Given the description of an element on the screen output the (x, y) to click on. 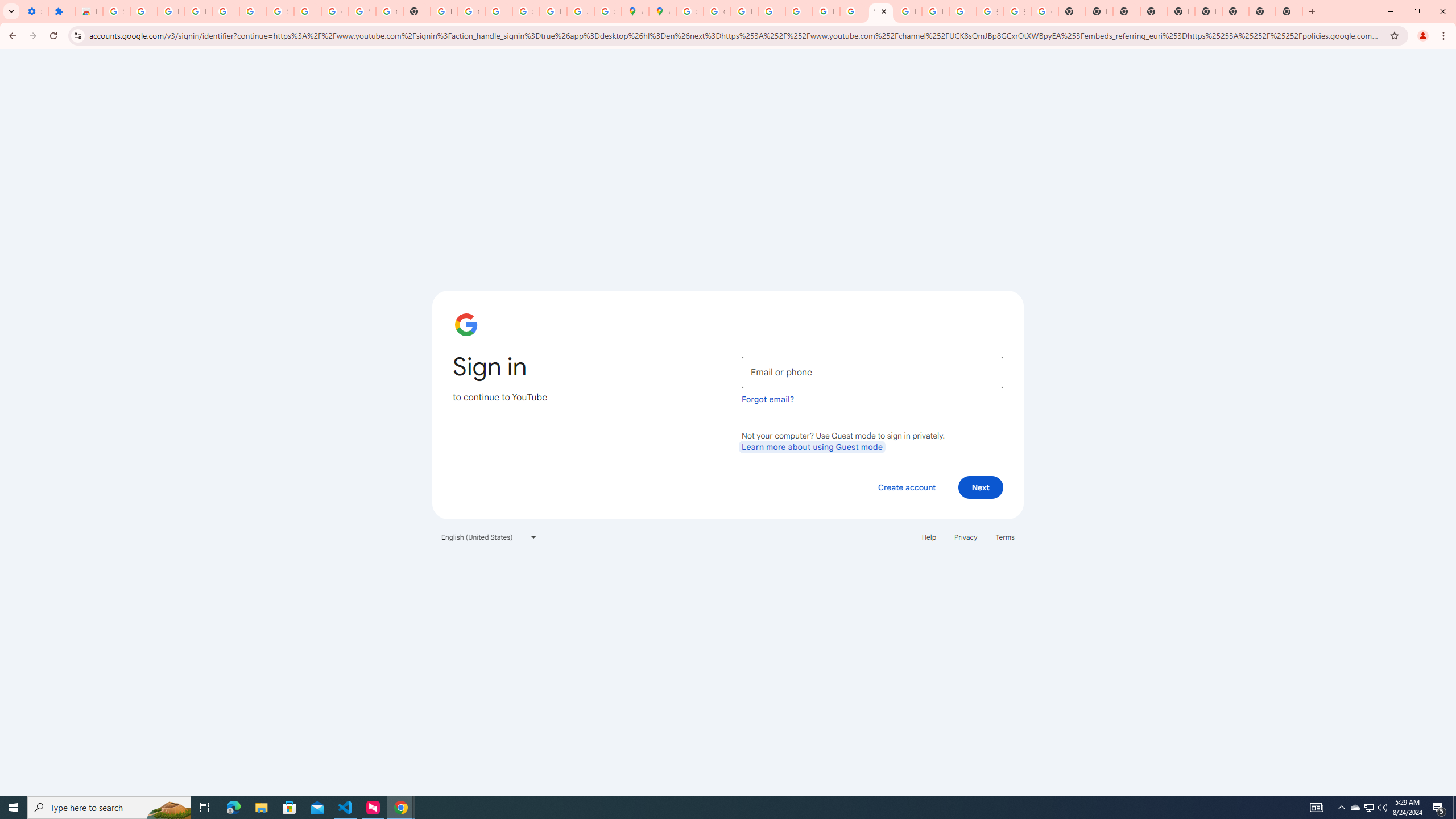
Learn more about using Guest mode (812, 446)
Safety in Our Products - Google Safety Center (607, 11)
Forgot email? (767, 398)
